Given the description of an element on the screen output the (x, y) to click on. 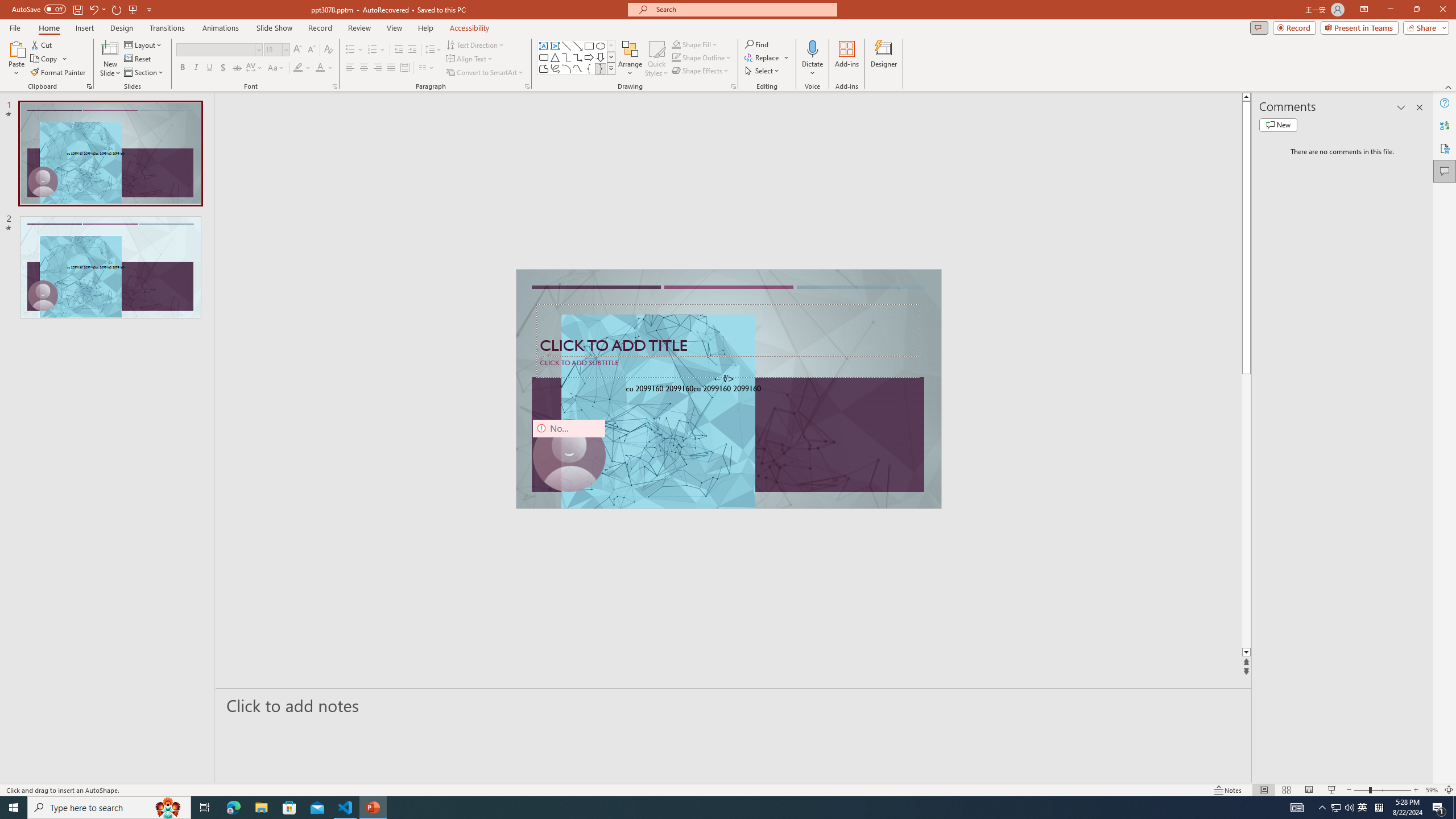
An abstract genetic concept (728, 388)
Row up (611, 45)
Character Spacing (254, 67)
Text Highlight Color Yellow (297, 67)
Distributed (404, 67)
Columns (426, 67)
Rectangle: Rounded Corners (543, 57)
Paragraph... (526, 85)
Zoom 59% (1431, 790)
Font Size (276, 49)
Rectangle (589, 45)
AutomationID: ShapesInsertGallery (576, 57)
Quick Styles (656, 58)
